Given the description of an element on the screen output the (x, y) to click on. 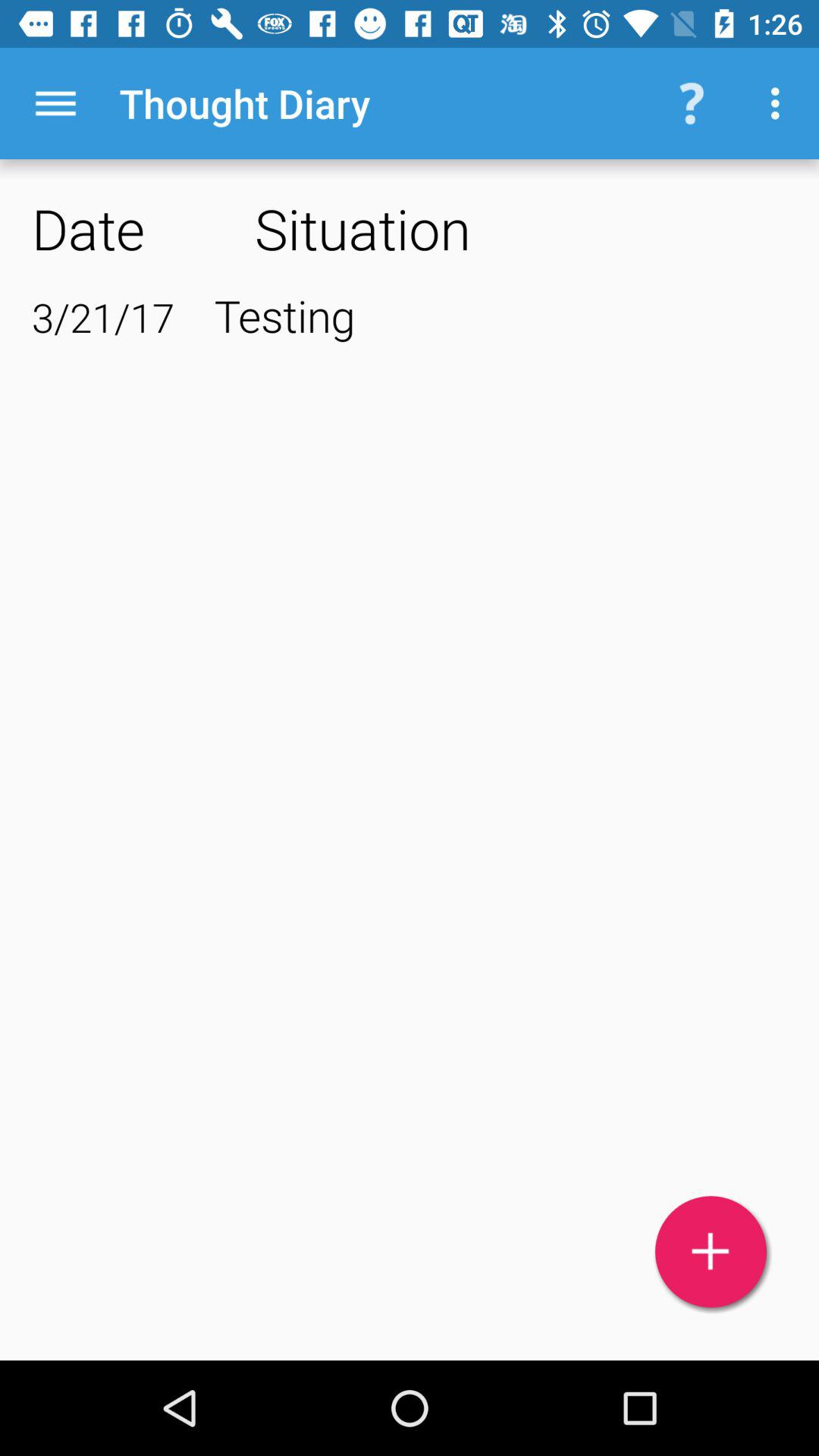
launch the app to the right of thought diary item (691, 103)
